Given the description of an element on the screen output the (x, y) to click on. 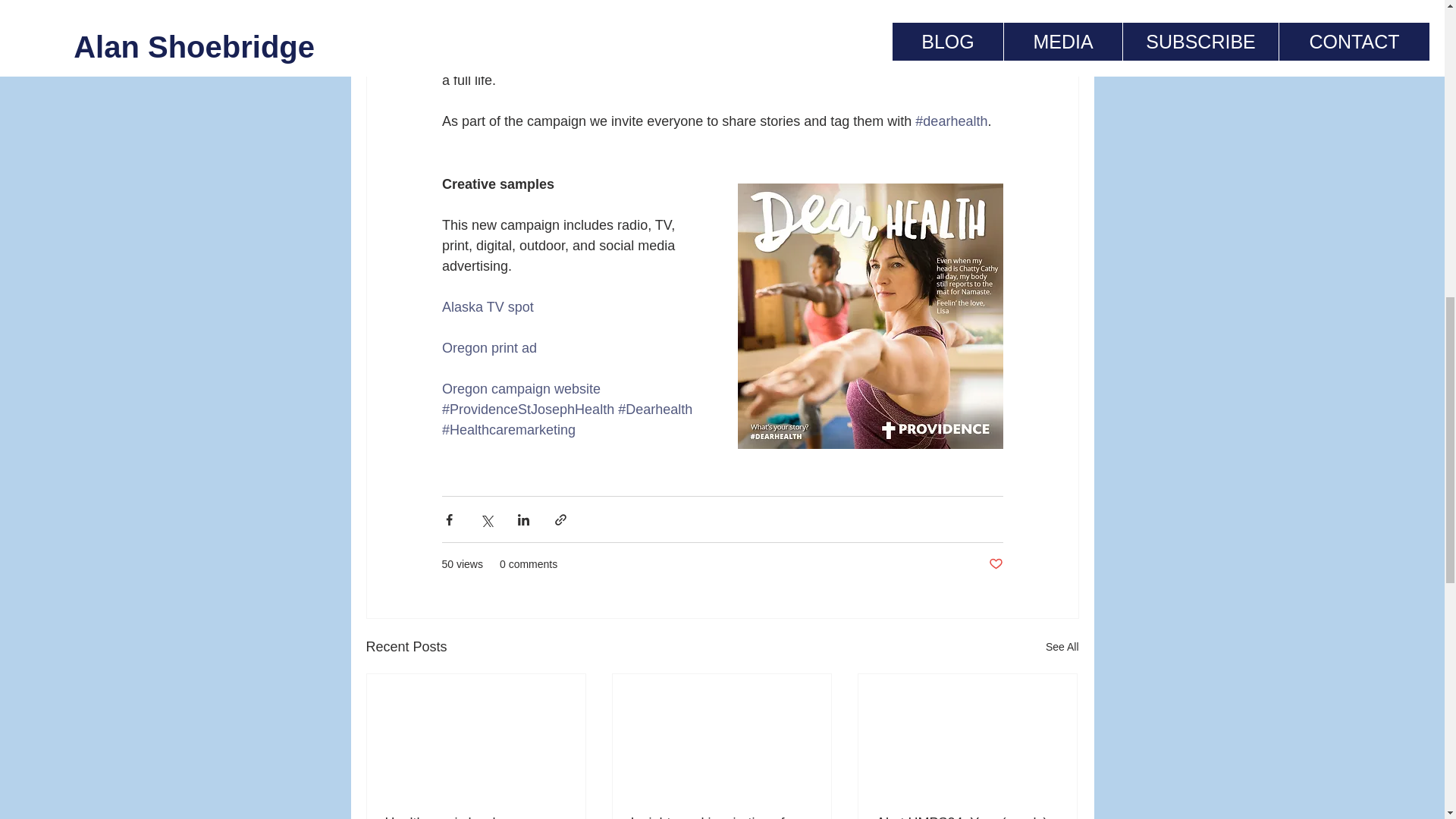
Post not marked as liked (995, 564)
See All (1061, 647)
Oregon print ad (488, 347)
Oregon campaign website (520, 388)
Alaska TV spot  (489, 306)
